Given the description of an element on the screen output the (x, y) to click on. 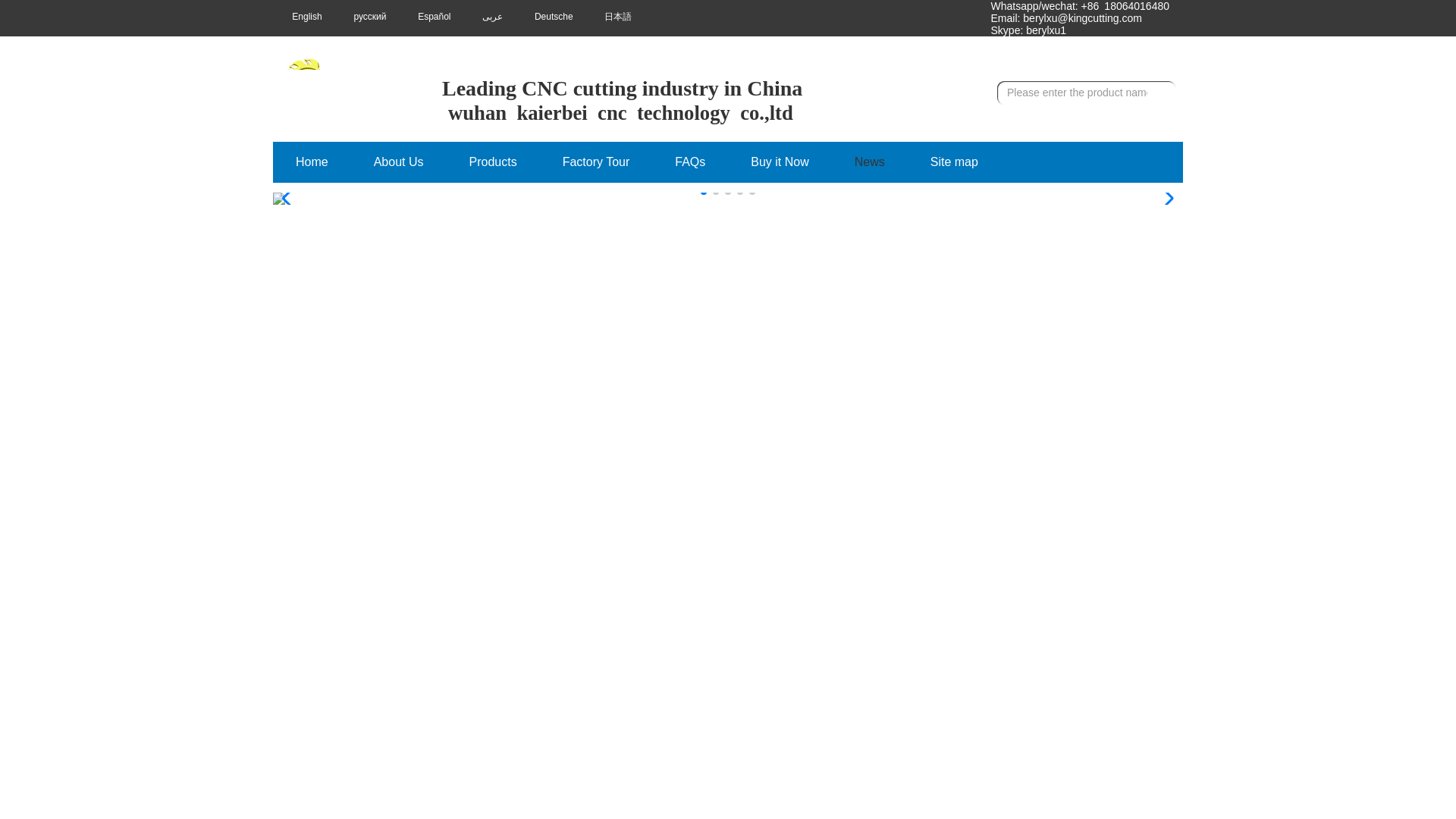
Factory Tour (596, 161)
ming (958, 16)
Search (1161, 92)
FAQs (689, 161)
Buy it Now (779, 161)
Please enter the product name (1074, 92)
English (297, 15)
Deutsche (544, 15)
Home (312, 161)
Products (492, 161)
